Given the description of an element on the screen output the (x, y) to click on. 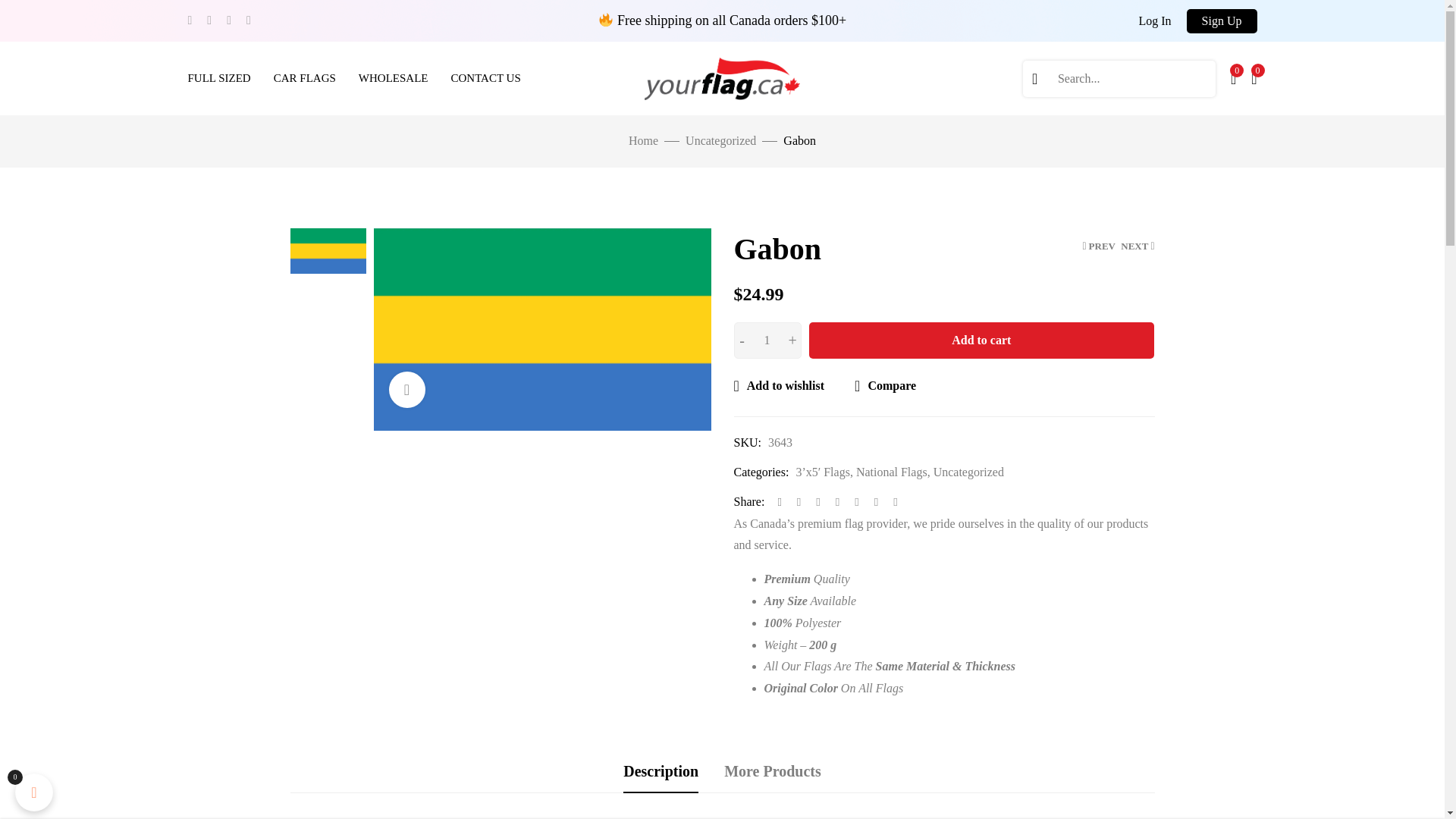
Uncategorized (720, 140)
Log In (1154, 21)
Add to cart (981, 340)
NEXT (1137, 245)
1 (766, 339)
Add to wishlist (779, 385)
Sign Up (1221, 21)
WHOLESALE (393, 78)
CAR FLAGS (304, 78)
PREV (1098, 245)
CONTACT US (485, 78)
FULL SIZED (219, 78)
Qty (766, 339)
Compare (884, 385)
Home (643, 140)
